Given the description of an element on the screen output the (x, y) to click on. 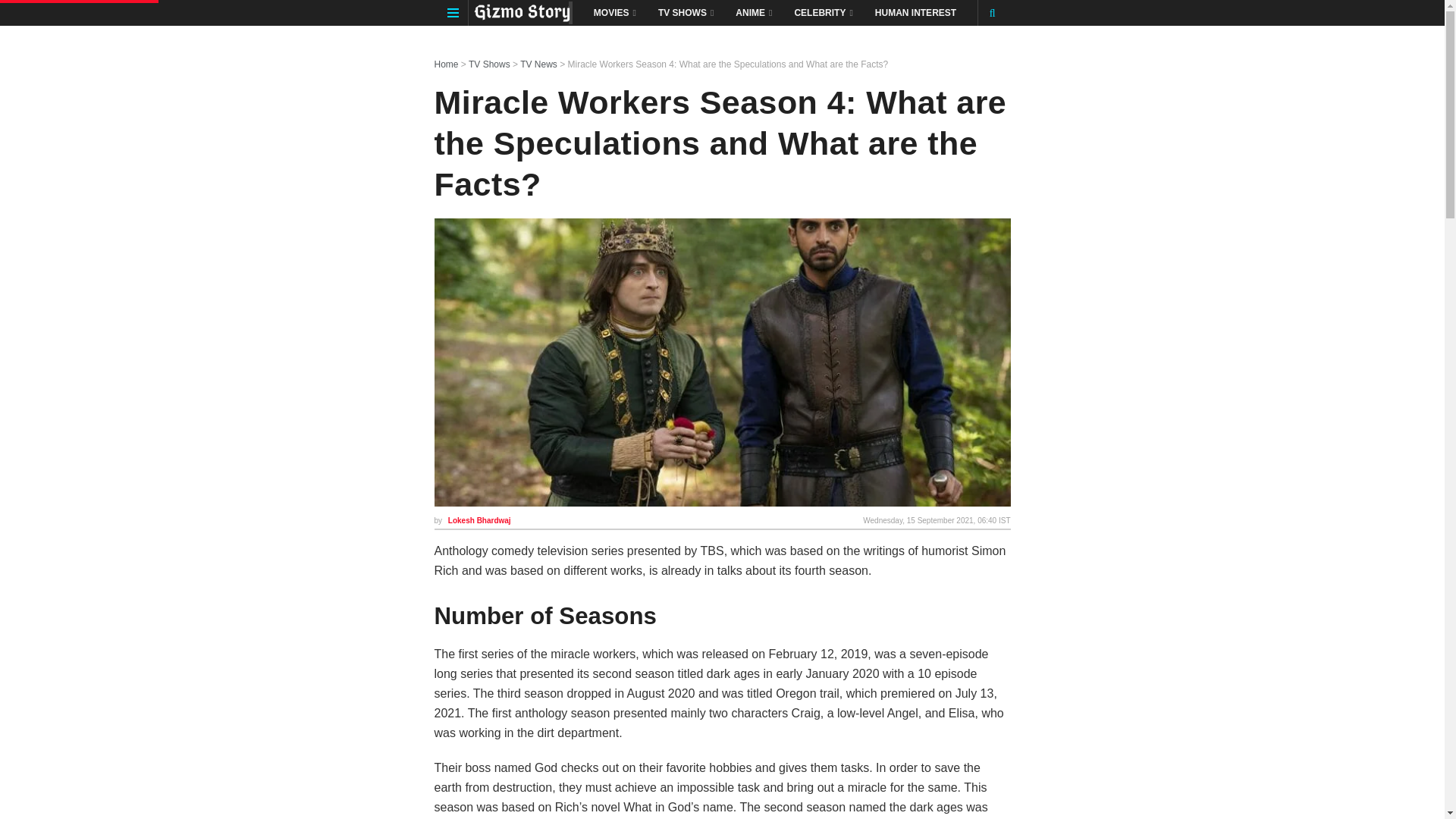
MOVIES (613, 12)
ANIME (752, 12)
TV SHOWS (684, 12)
CELEBRITY (821, 12)
Go to the TV News Category archives. (538, 63)
Go to the TV Shows Category archives. (489, 63)
HUMAN INTEREST (915, 12)
Go to Gizmo Story. (445, 63)
